Given the description of an element on the screen output the (x, y) to click on. 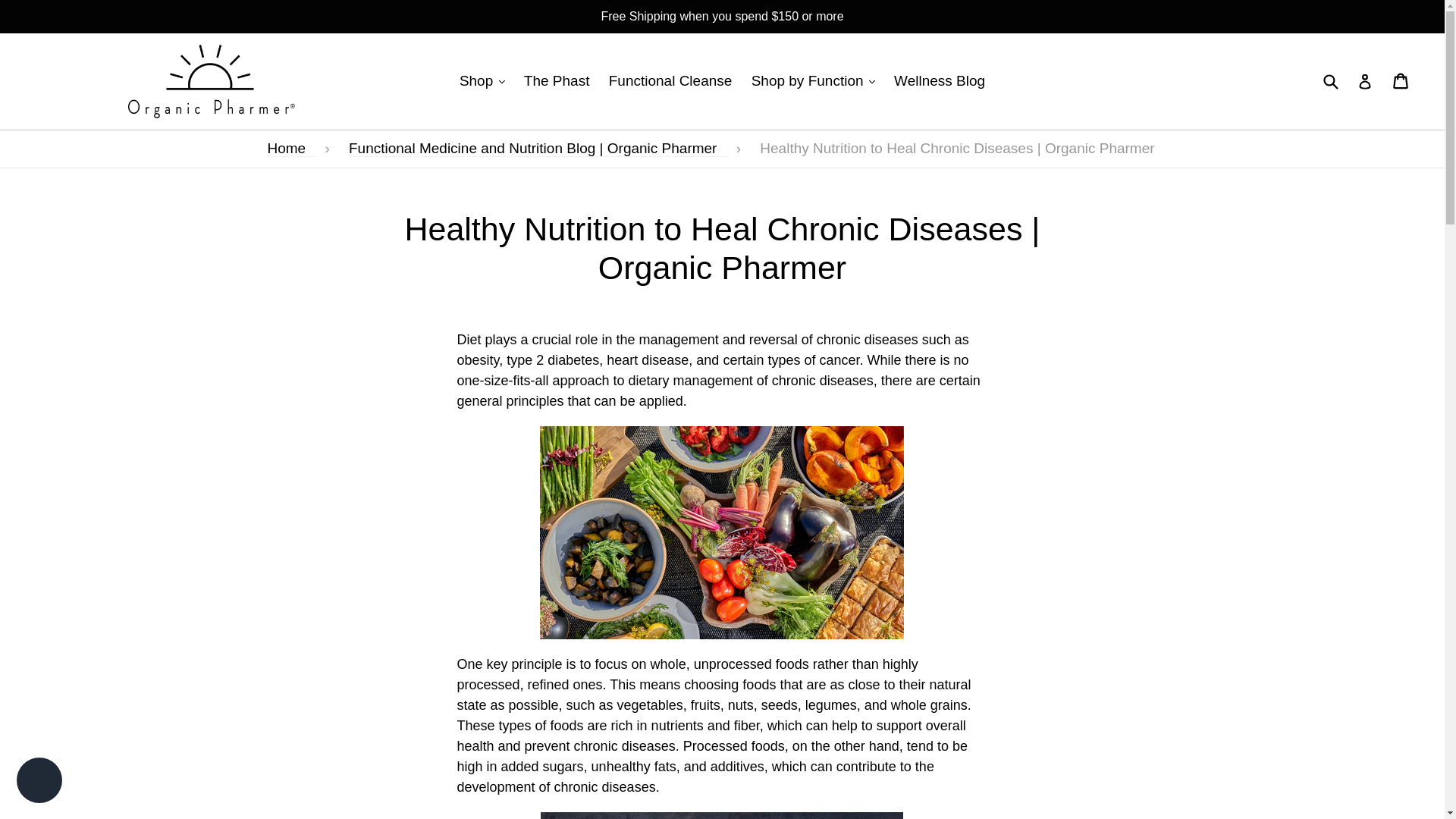
Functional Cleanse (670, 81)
The Phast (556, 81)
Shopify online store chat (38, 781)
Home (291, 148)
Wellness Blog (939, 81)
